Given the description of an element on the screen output the (x, y) to click on. 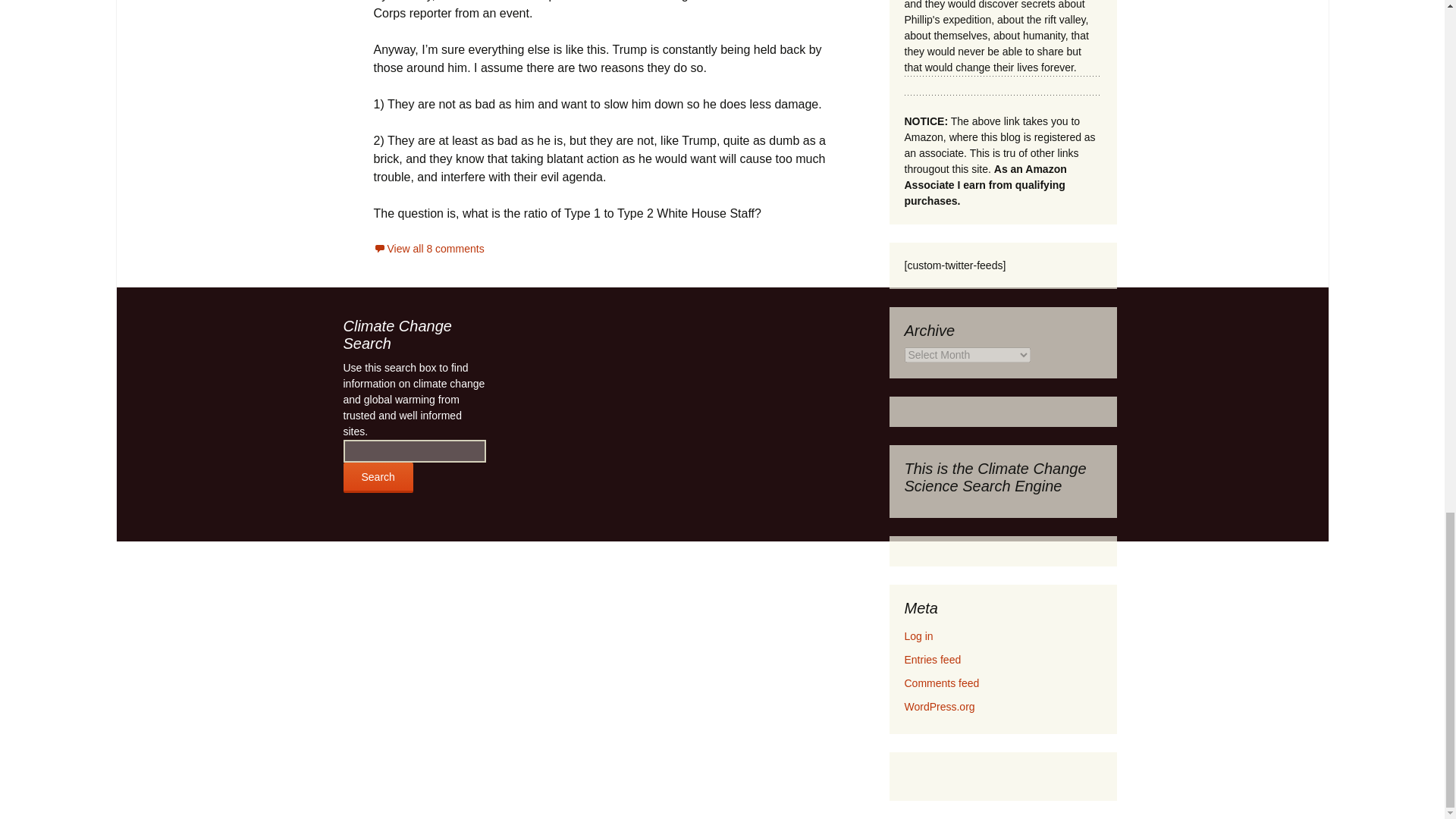
WordPress.org (939, 706)
Search (377, 477)
View all 8 comments (427, 248)
Search (377, 477)
Log in (918, 635)
Entries feed (932, 659)
Comments feed (941, 683)
